Given the description of an element on the screen output the (x, y) to click on. 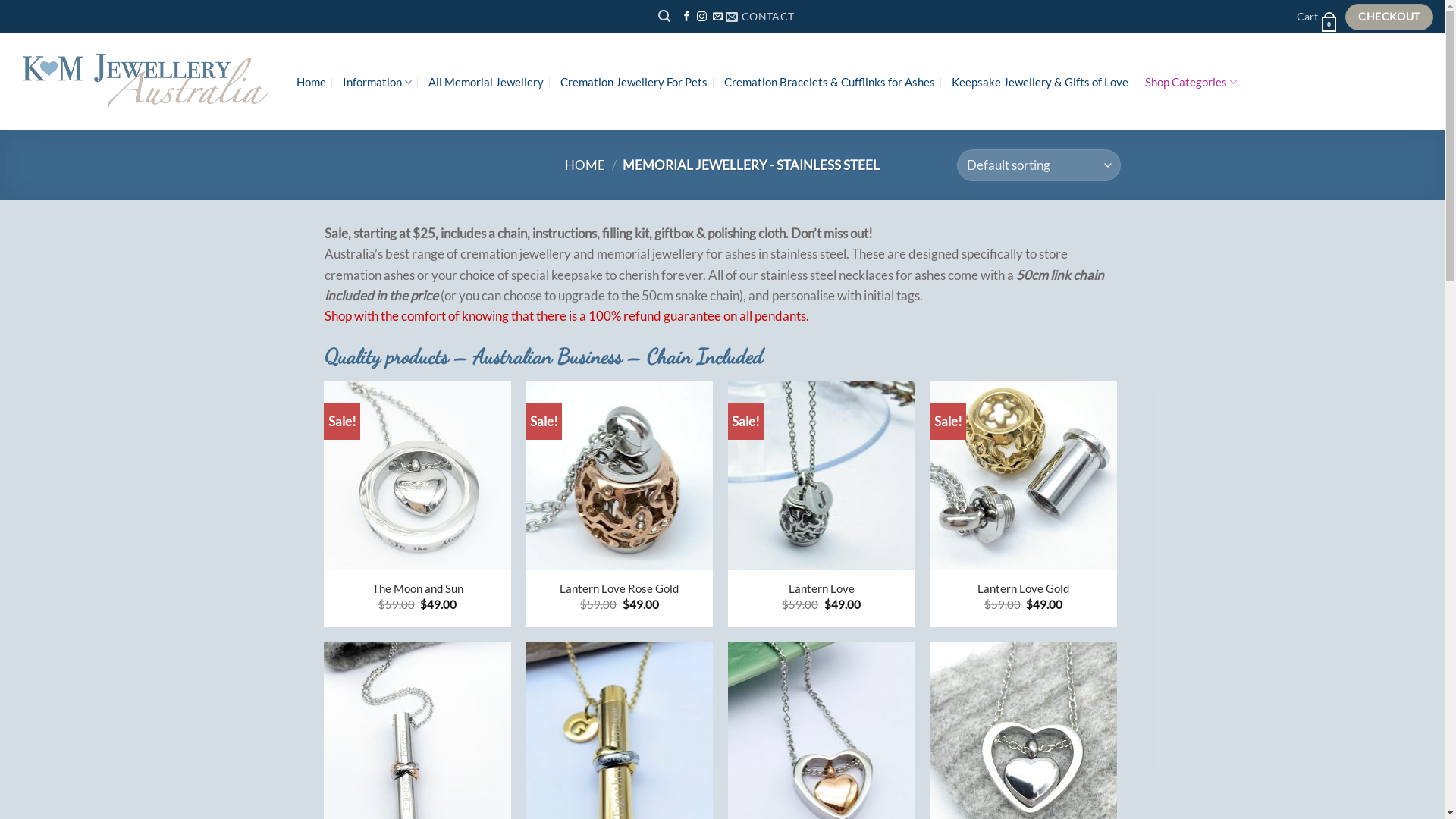
Skip to content Element type: text (0, 0)
CONTACT Element type: text (759, 16)
CHECKOUT Element type: text (1389, 16)
Lantern Love Gold Element type: text (1023, 588)
Lantern Love Rose Gold Element type: text (618, 588)
Home Element type: text (311, 81)
Cremation Jewellery For Pets Element type: text (633, 81)
Information Element type: text (376, 82)
All Memorial Jewellery Element type: text (485, 81)
Cart
0 Element type: text (1316, 16)
Shop Categories Element type: text (1190, 82)
HOME Element type: text (584, 164)
Keepsake Memorial Jewellery Element type: hover (142, 81)
Lantern Love Element type: text (821, 588)
The Moon and Sun Element type: text (417, 588)
Keepsake Jewellery & Gifts of Love Element type: text (1039, 81)
Cremation Bracelets & Cufflinks for Ashes Element type: text (829, 81)
